Given the description of an element on the screen output the (x, y) to click on. 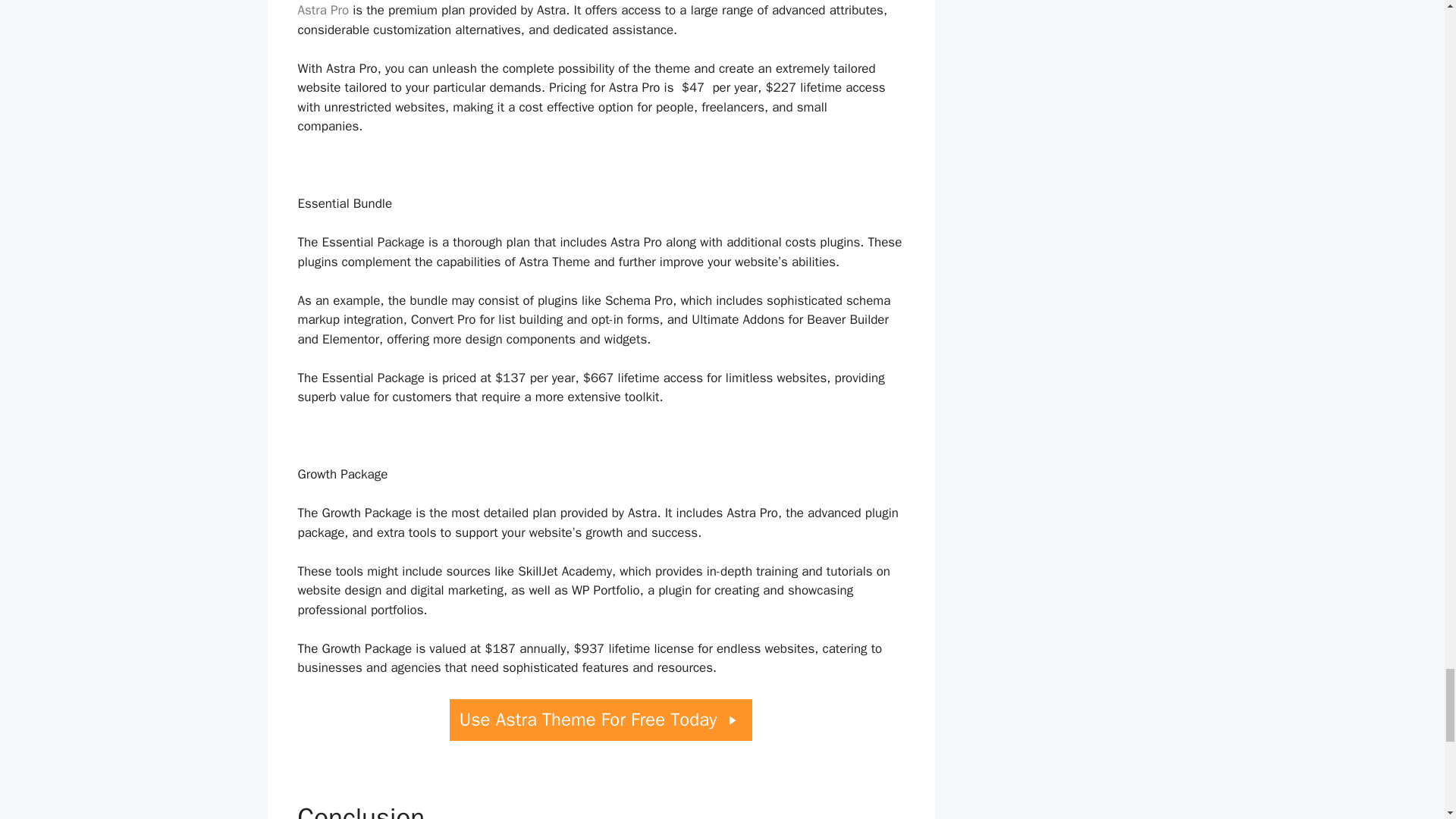
Use Astra Theme For Free Today (600, 720)
Astra Pro (323, 10)
